Given the description of an element on the screen output the (x, y) to click on. 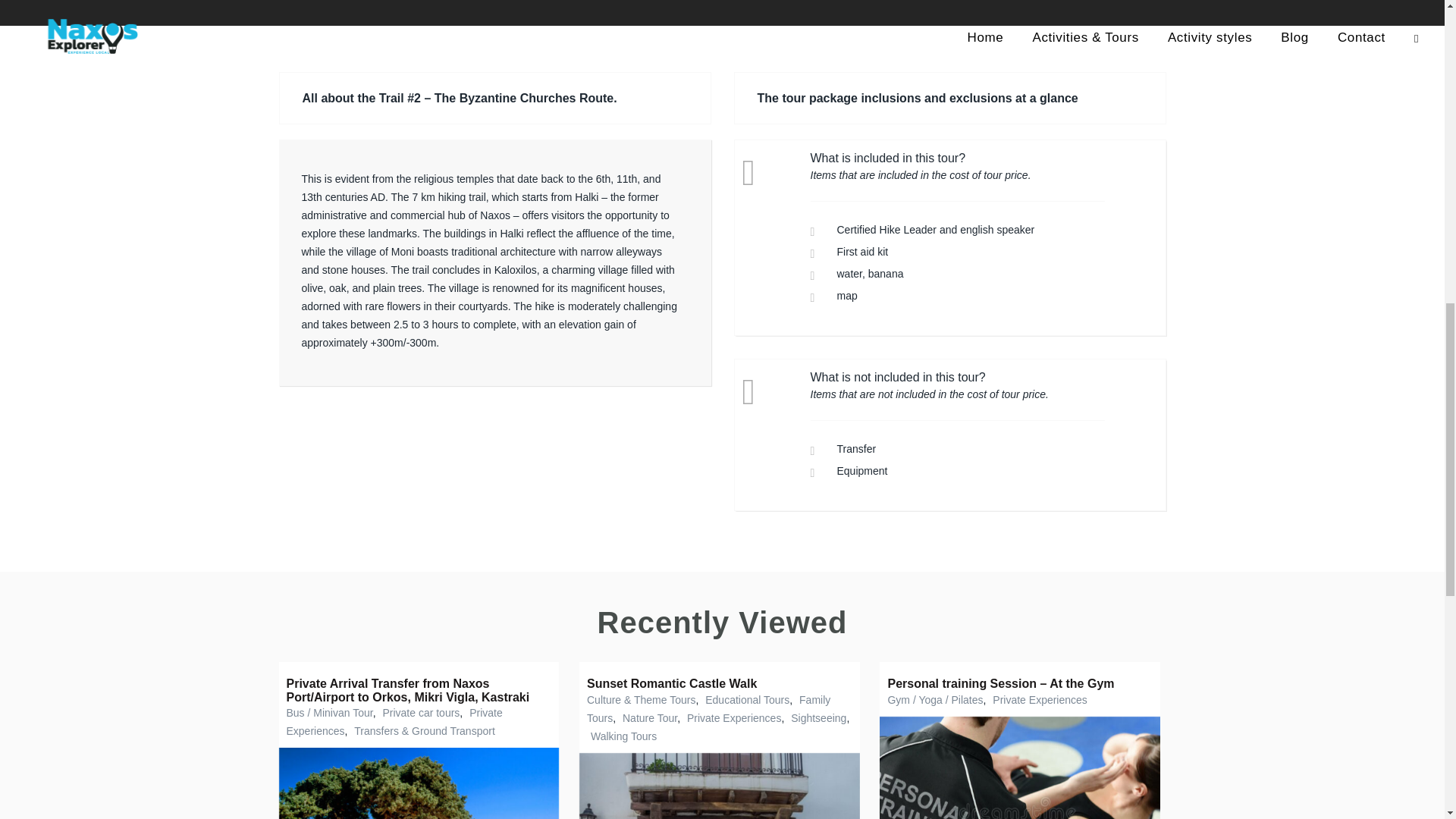
Private Experiences (1037, 699)
Private Experiences (731, 717)
Overview (316, 2)
Private Experiences (394, 721)
Educational Tours (745, 699)
Nature Tour (647, 717)
Private car tours (419, 712)
Family Tours (707, 708)
Sightseeing (816, 717)
Walking Tours (621, 736)
Sunset Romantic Castle Walk (671, 683)
